Given the description of an element on the screen output the (x, y) to click on. 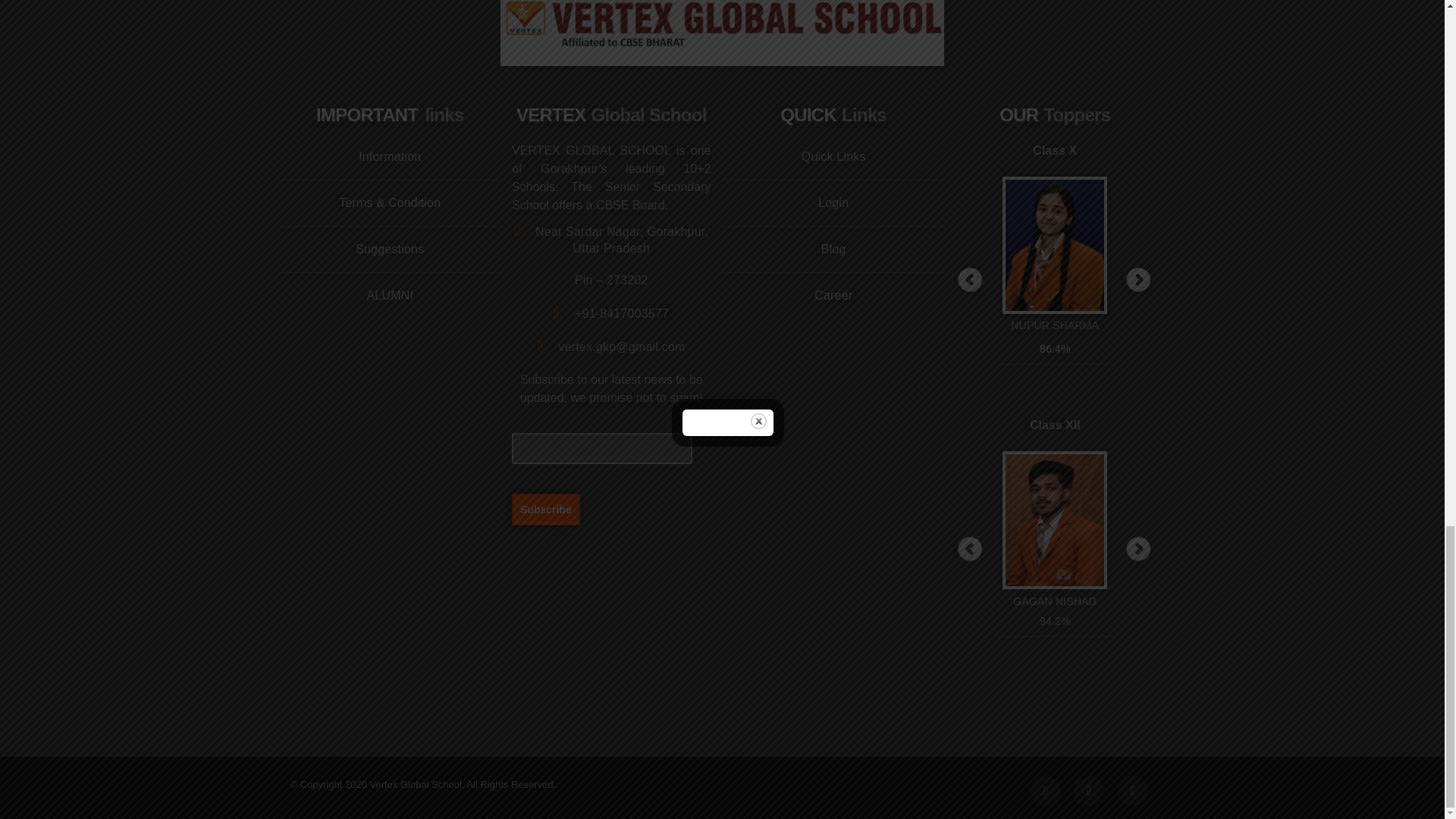
Subscribe (545, 508)
